Given the description of an element on the screen output the (x, y) to click on. 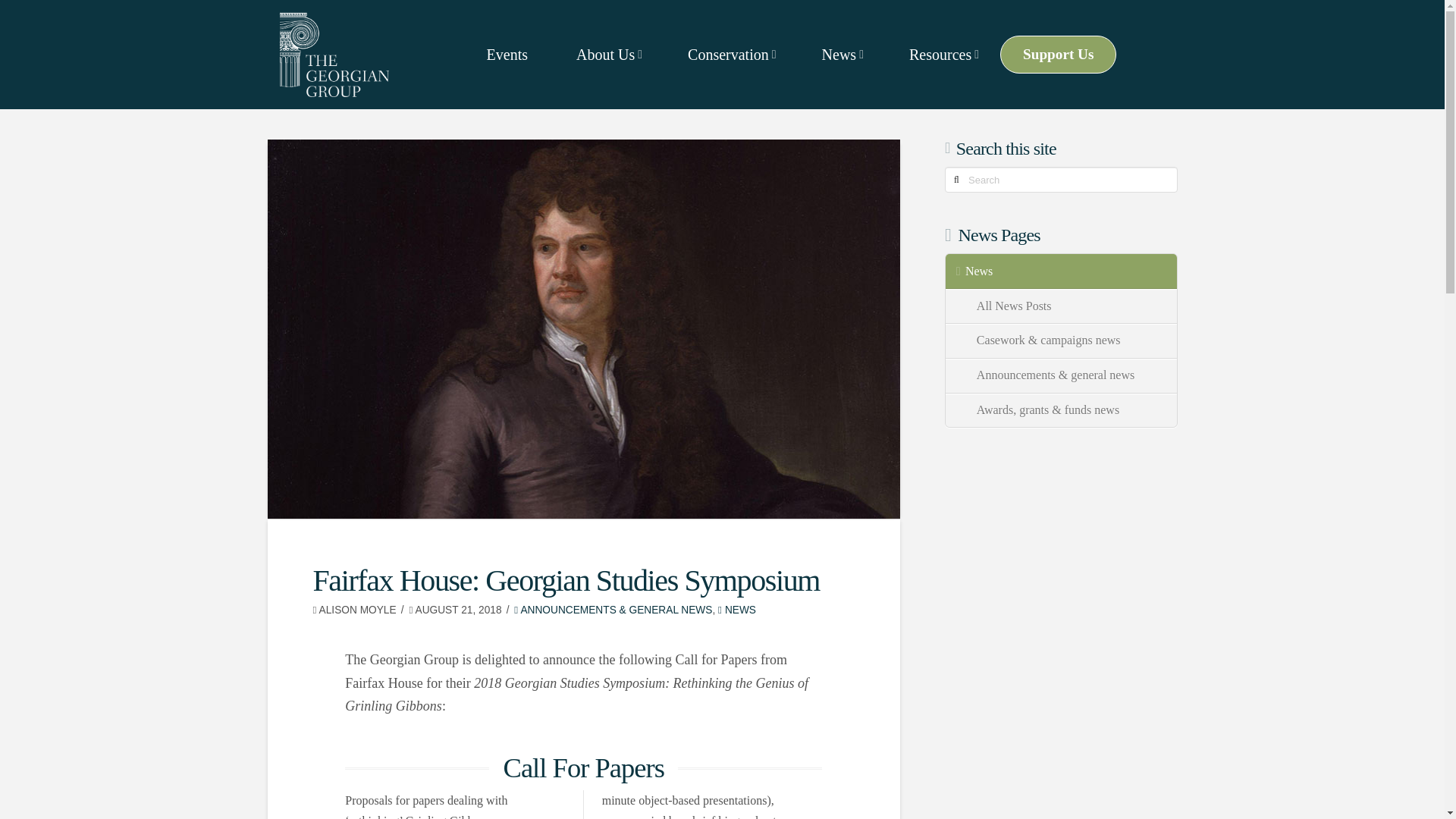
NEWS (736, 609)
Support Us (1058, 54)
Conservation (730, 54)
